Given the description of an element on the screen output the (x, y) to click on. 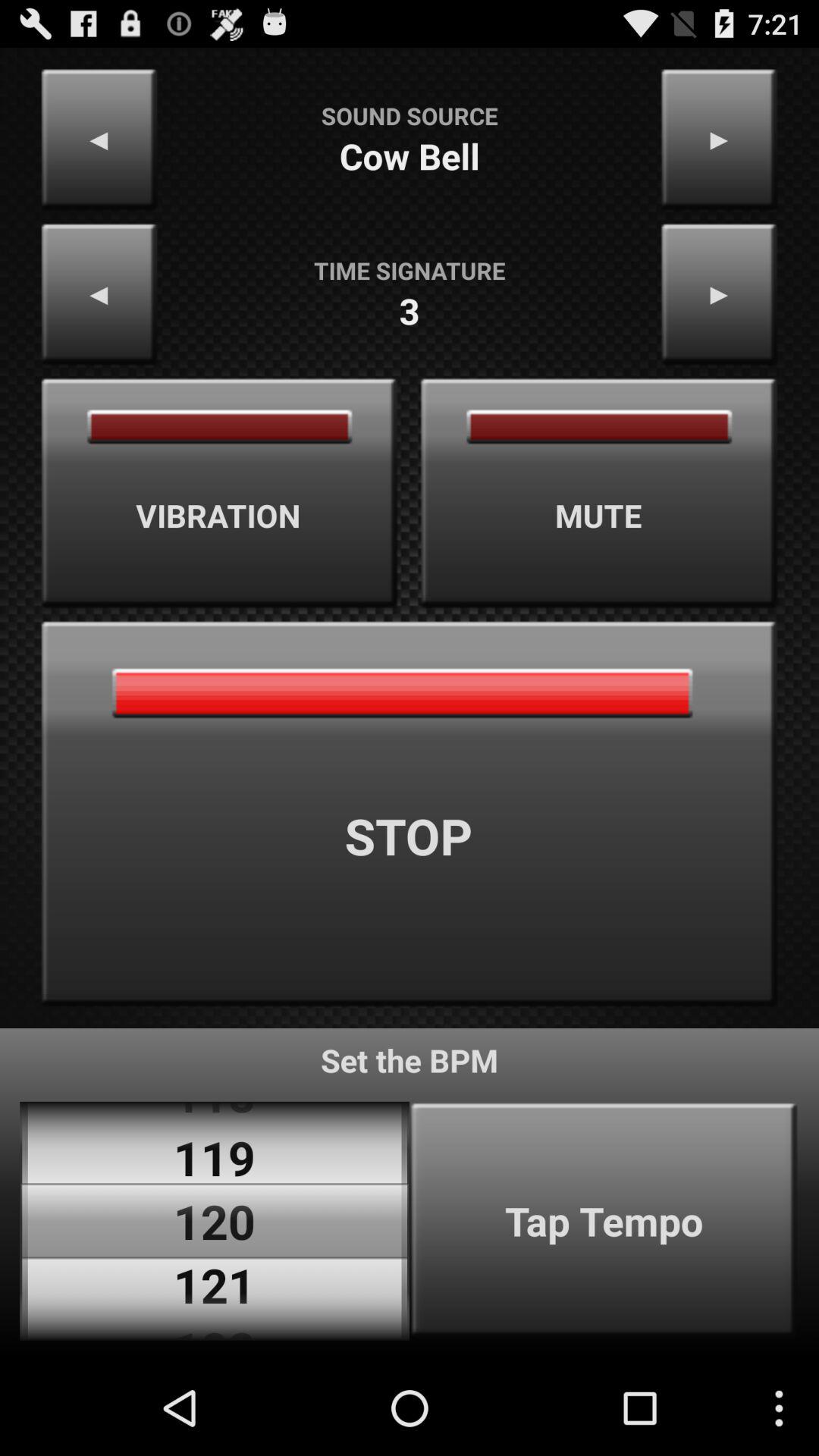
select the item on the right (599, 493)
